Given the description of an element on the screen output the (x, y) to click on. 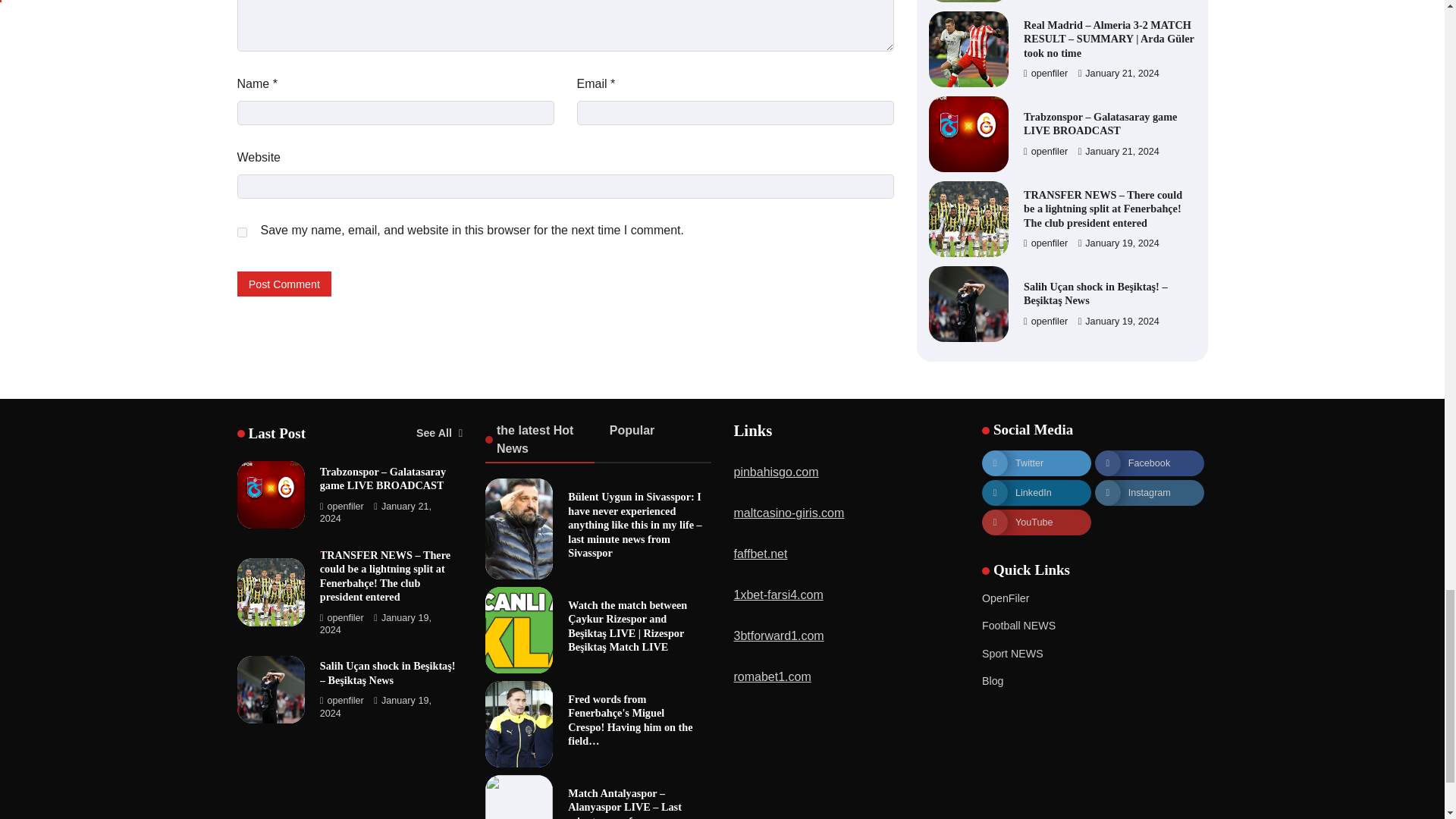
Post Comment (283, 283)
yes (240, 232)
Post Comment (283, 283)
